Given the description of an element on the screen output the (x, y) to click on. 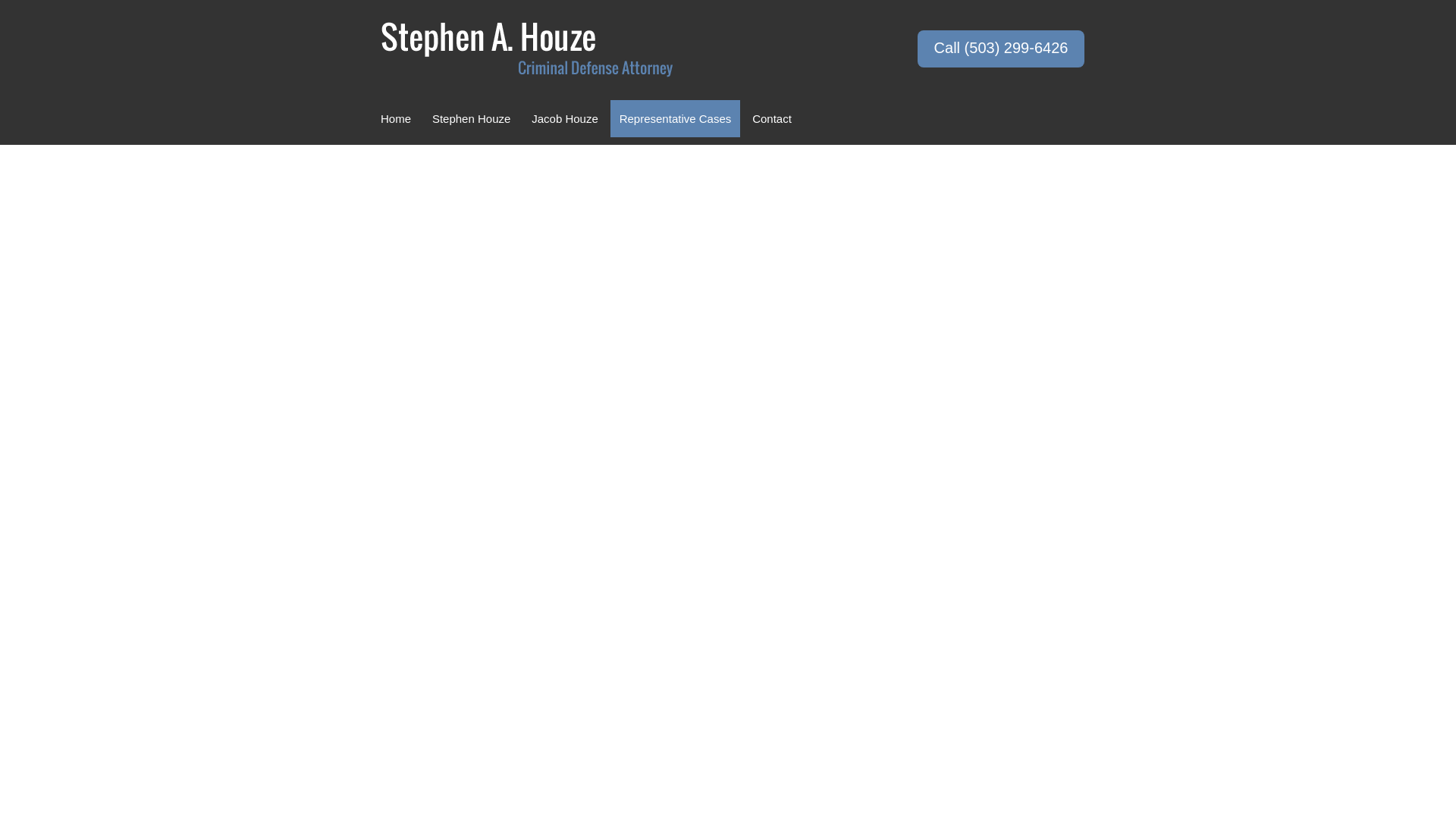
Stephen Houze (471, 118)
Home (395, 118)
Contact (771, 118)
Jacob Houze (564, 118)
Representative Cases (675, 118)
